Given the description of an element on the screen output the (x, y) to click on. 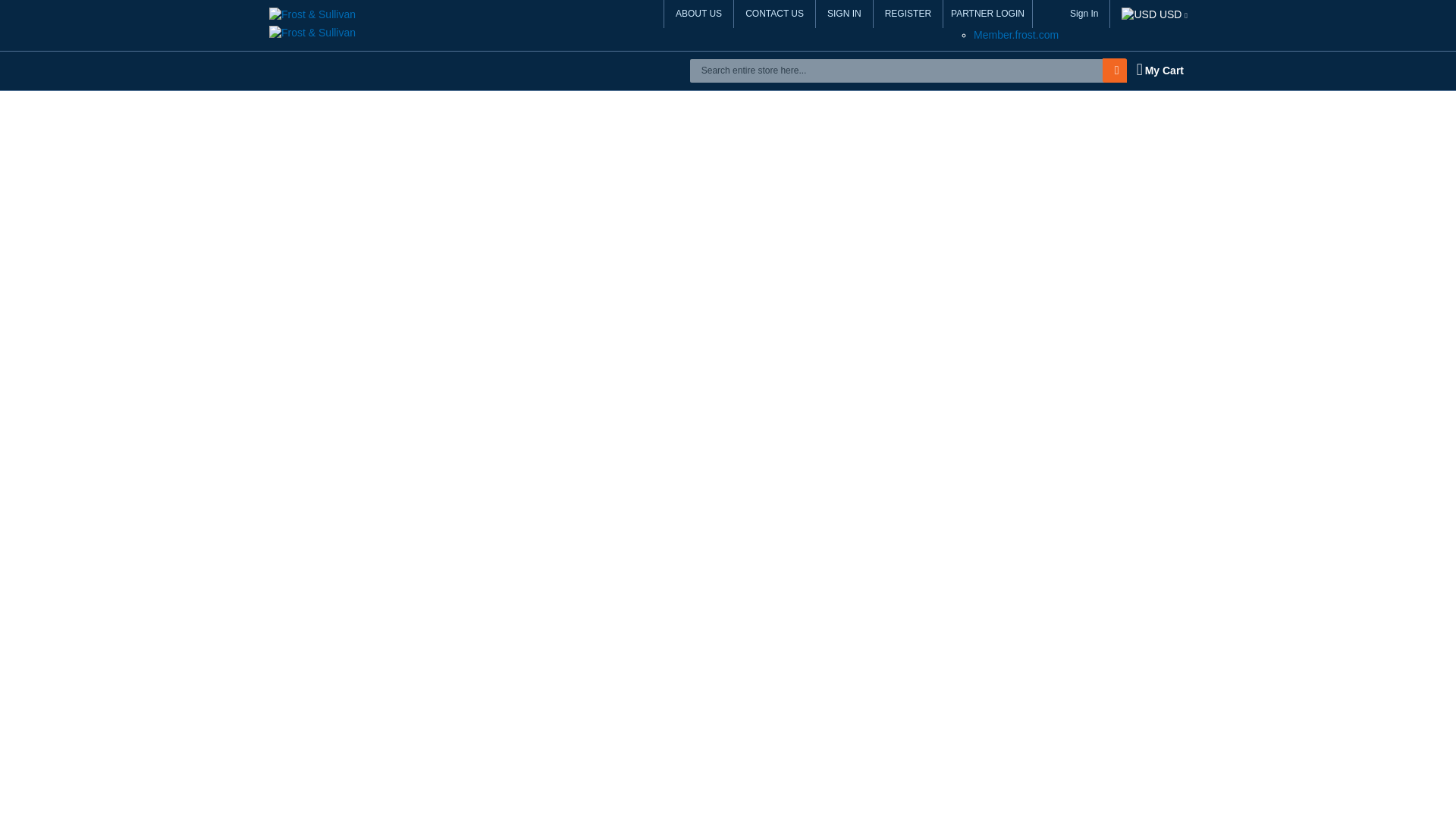
CONTACT US (774, 13)
ABOUT US (698, 13)
Member.frost.com (1016, 34)
PARTNER LOGIN (987, 13)
REGISTER (908, 13)
Sign In (1083, 13)
My Cart (1159, 69)
SIGN IN (844, 13)
